Given the description of an element on the screen output the (x, y) to click on. 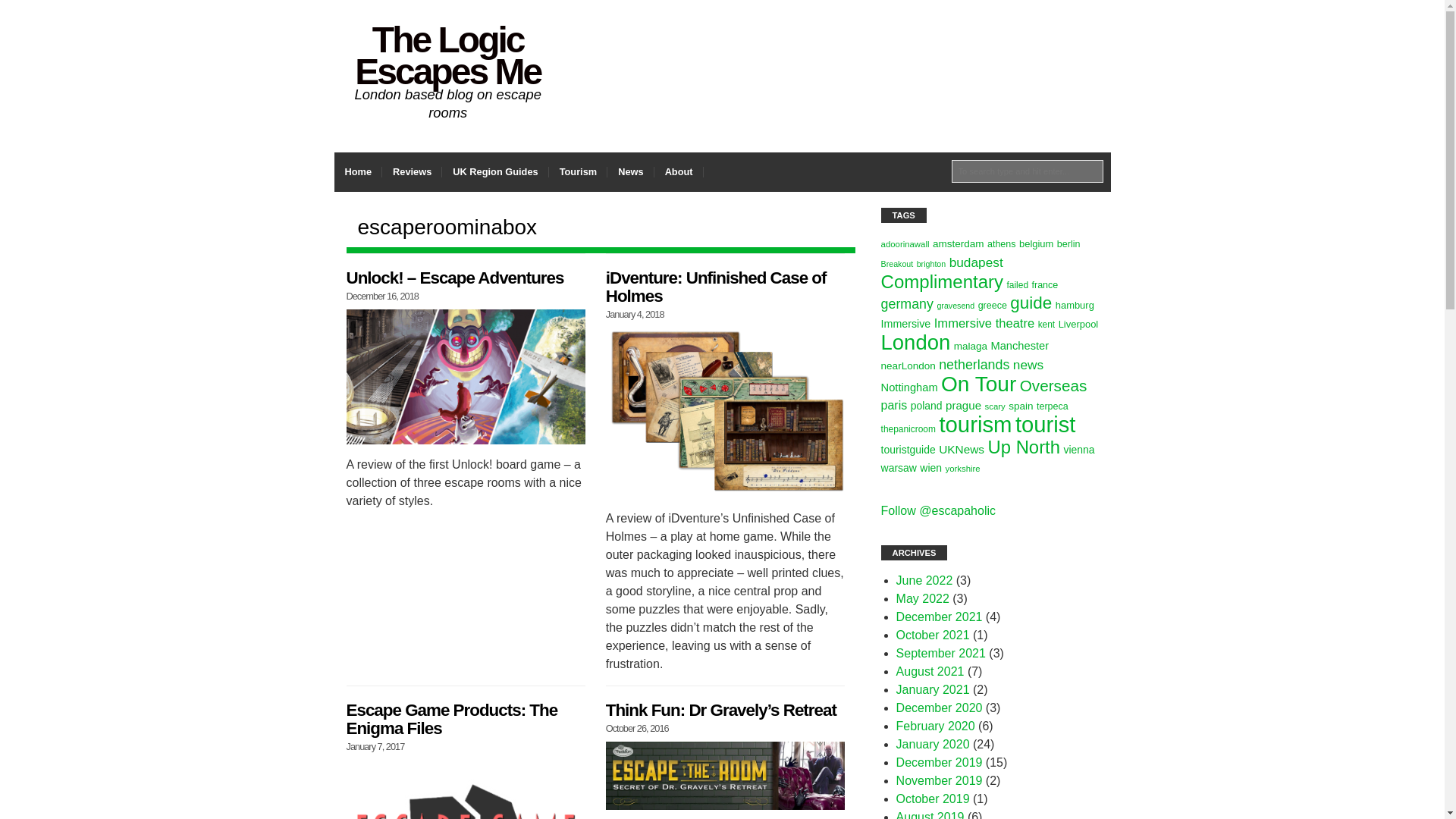
Saturday, Jan 7, 2017, 6:21 am (375, 746)
Wednesday, Oct 26, 2016, 9:06 am (636, 727)
UK Region Guides (495, 171)
The Logic Escapes Me (447, 55)
Tourism (578, 171)
About (678, 171)
Sunday, Dec 16, 2018, 5:59 pm (381, 296)
Thursday, Jan 4, 2018, 8:20 pm (634, 314)
Reviews (411, 171)
Home (357, 171)
News (630, 171)
